Given the description of an element on the screen output the (x, y) to click on. 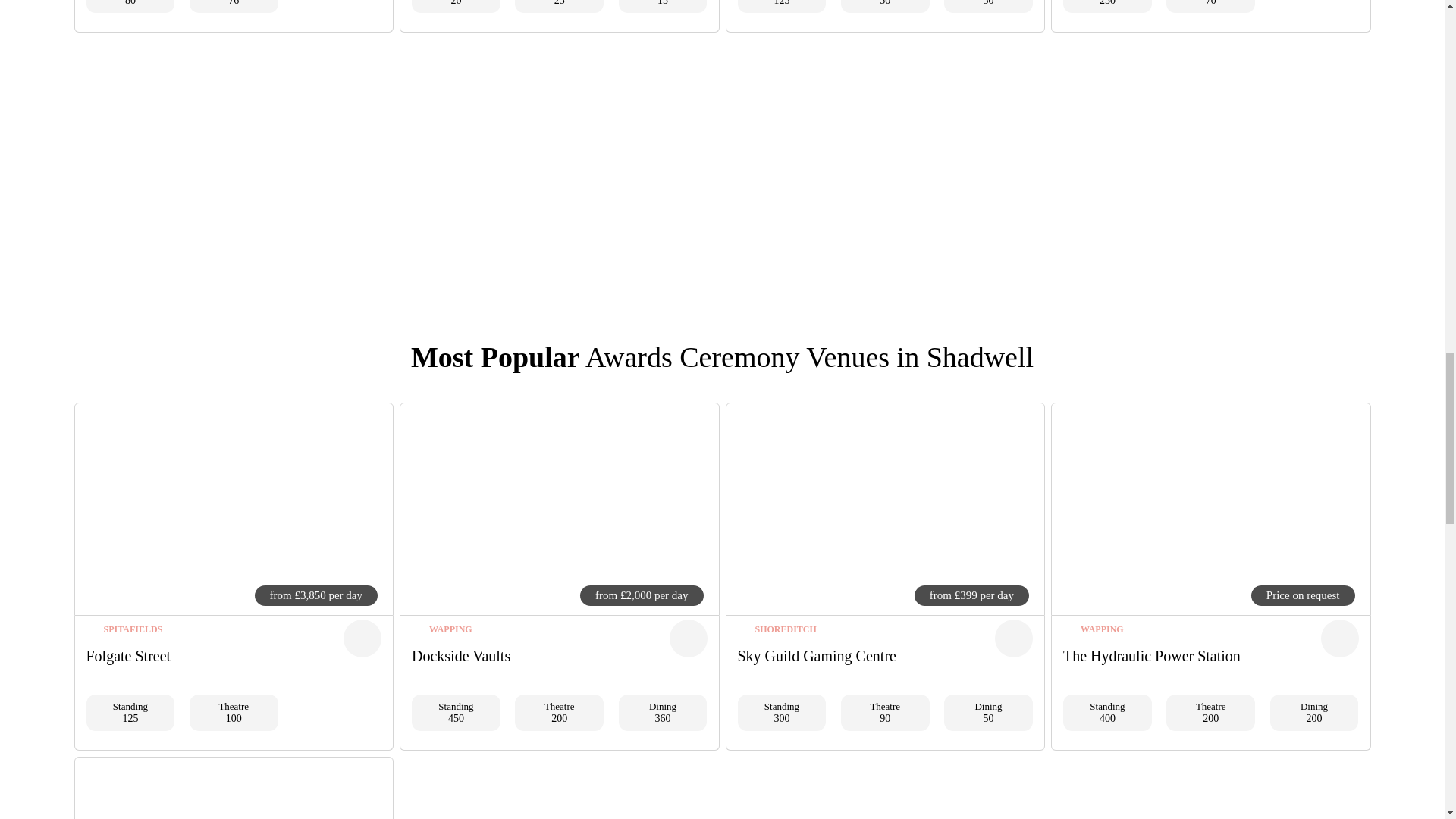
Add to wishlist (362, 638)
Add to wishlist (1339, 638)
Add to wishlist (1013, 638)
Add to wishlist (687, 638)
